Given the description of an element on the screen output the (x, y) to click on. 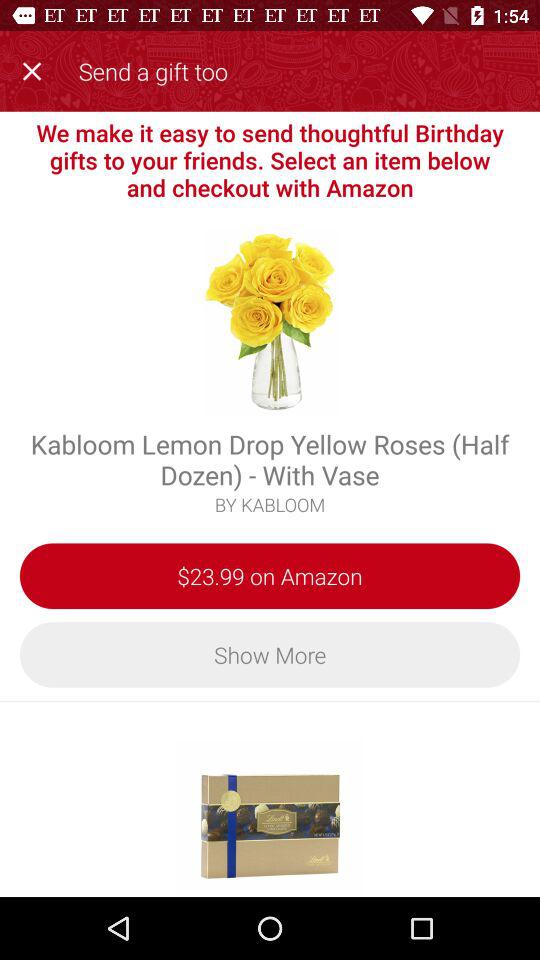
launch the icon above the show more item (269, 575)
